Given the description of an element on the screen output the (x, y) to click on. 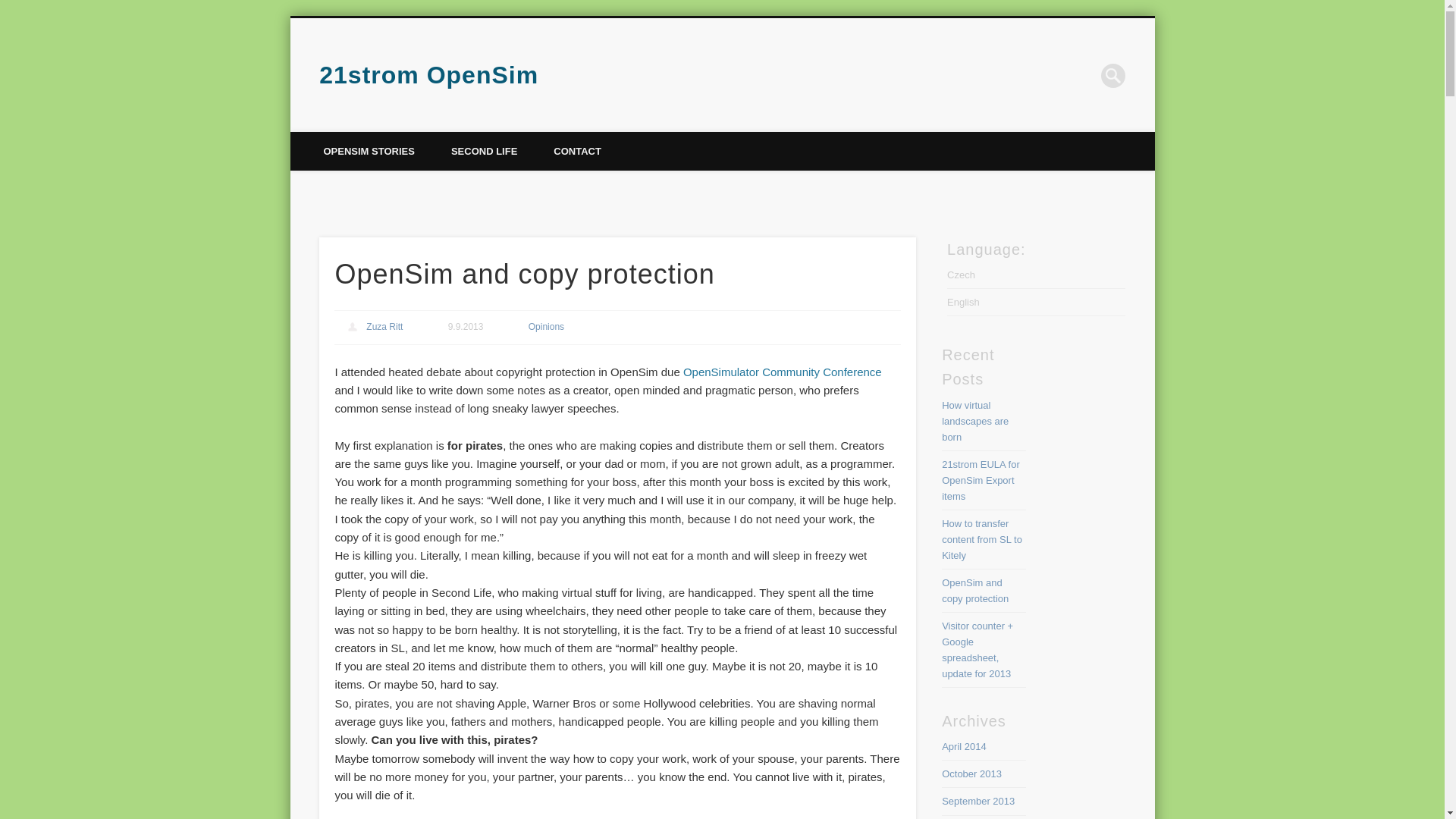
How virtual landscapes are born (975, 421)
Search (11, 7)
OpenSimulator Community Conference (782, 371)
21strom OpenSim (428, 74)
How to transfer content from SL to Kitely (982, 539)
OpenSim and copy protection (975, 590)
View all posts in Opinions (546, 326)
CONTACT (577, 150)
Zuza Ritt (384, 326)
April 2014 (964, 746)
21strom EULA for OpenSim Export items (981, 480)
OPENSIM STORIES (368, 150)
September 2013 (978, 800)
Opinions (546, 326)
Posts by Zuza Ritt (384, 326)
